Given the description of an element on the screen output the (x, y) to click on. 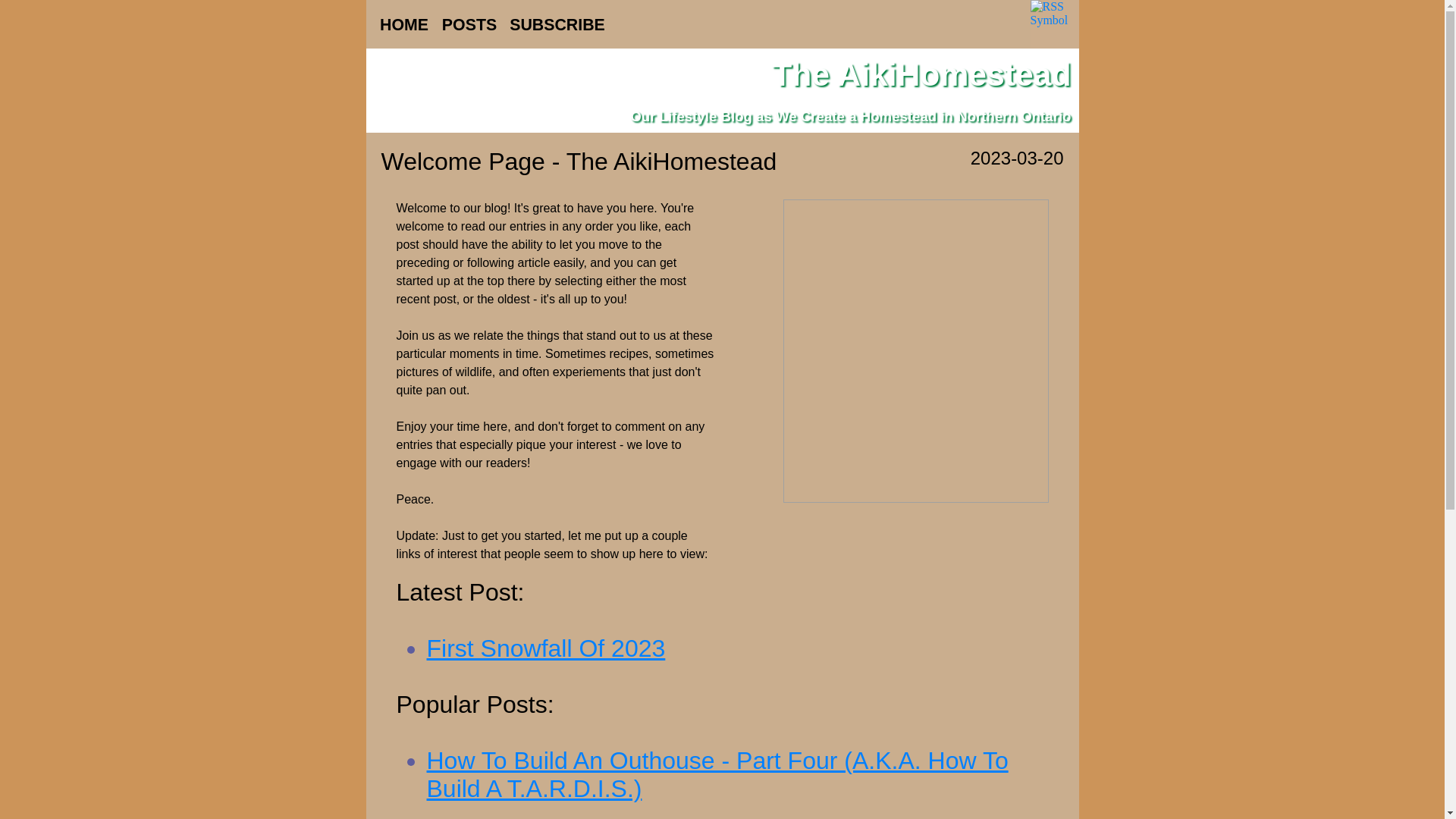
First Snowfall Of 2023 Element type: text (545, 648)
